Given the description of an element on the screen output the (x, y) to click on. 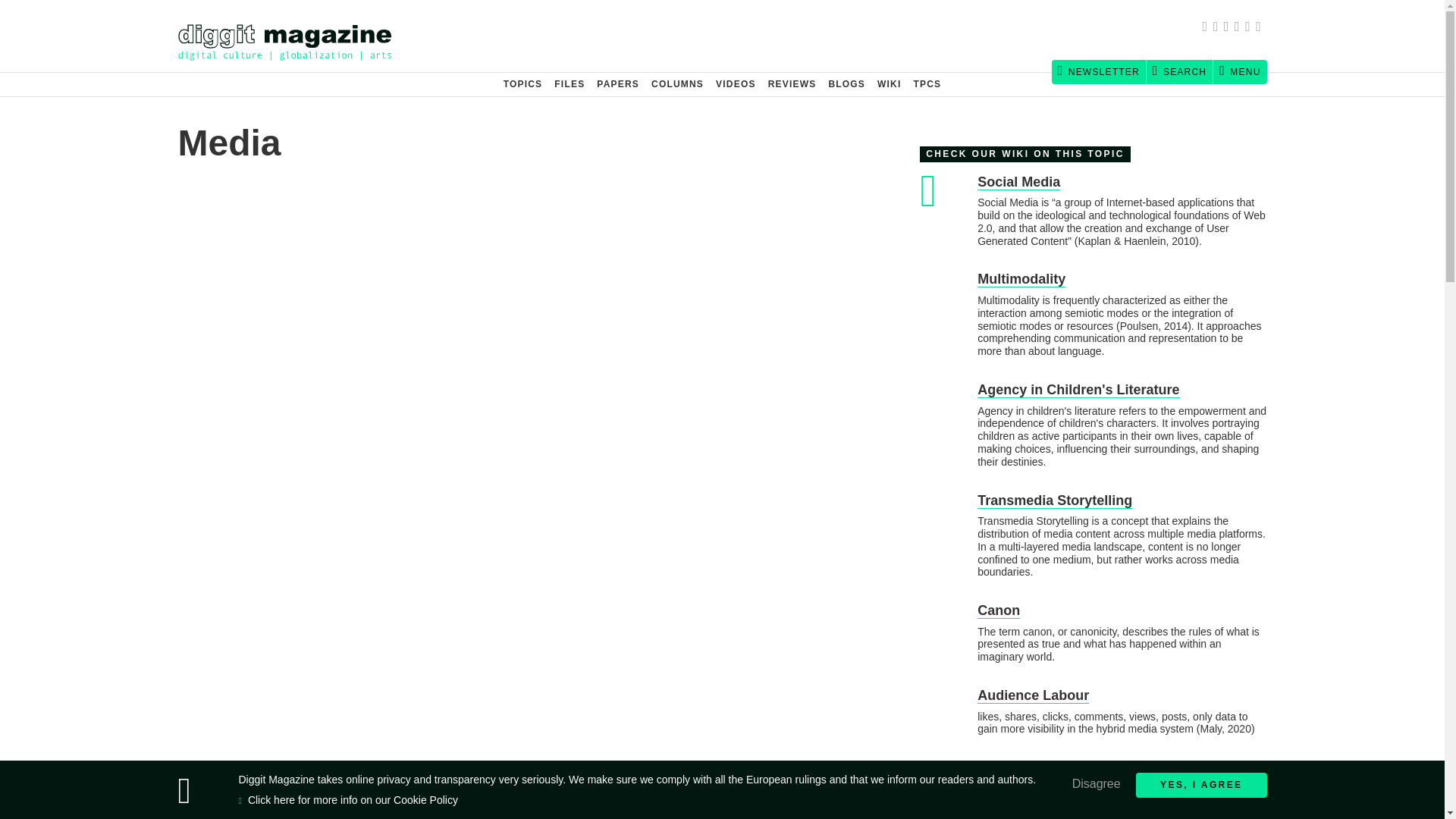
REVIEWS (791, 83)
MENU (1239, 71)
STUMBLEUPON (1239, 27)
FILES (569, 83)
Home (290, 36)
TWITTER (1218, 27)
VIDEOS (735, 83)
ACADEMIA (1229, 27)
COLUMNS (677, 83)
NEWSLETTER (1098, 71)
FACEBOOK (1207, 27)
LINKEDIN (1249, 27)
PAPERS (618, 83)
TOPICS (522, 83)
